Given the description of an element on the screen output the (x, y) to click on. 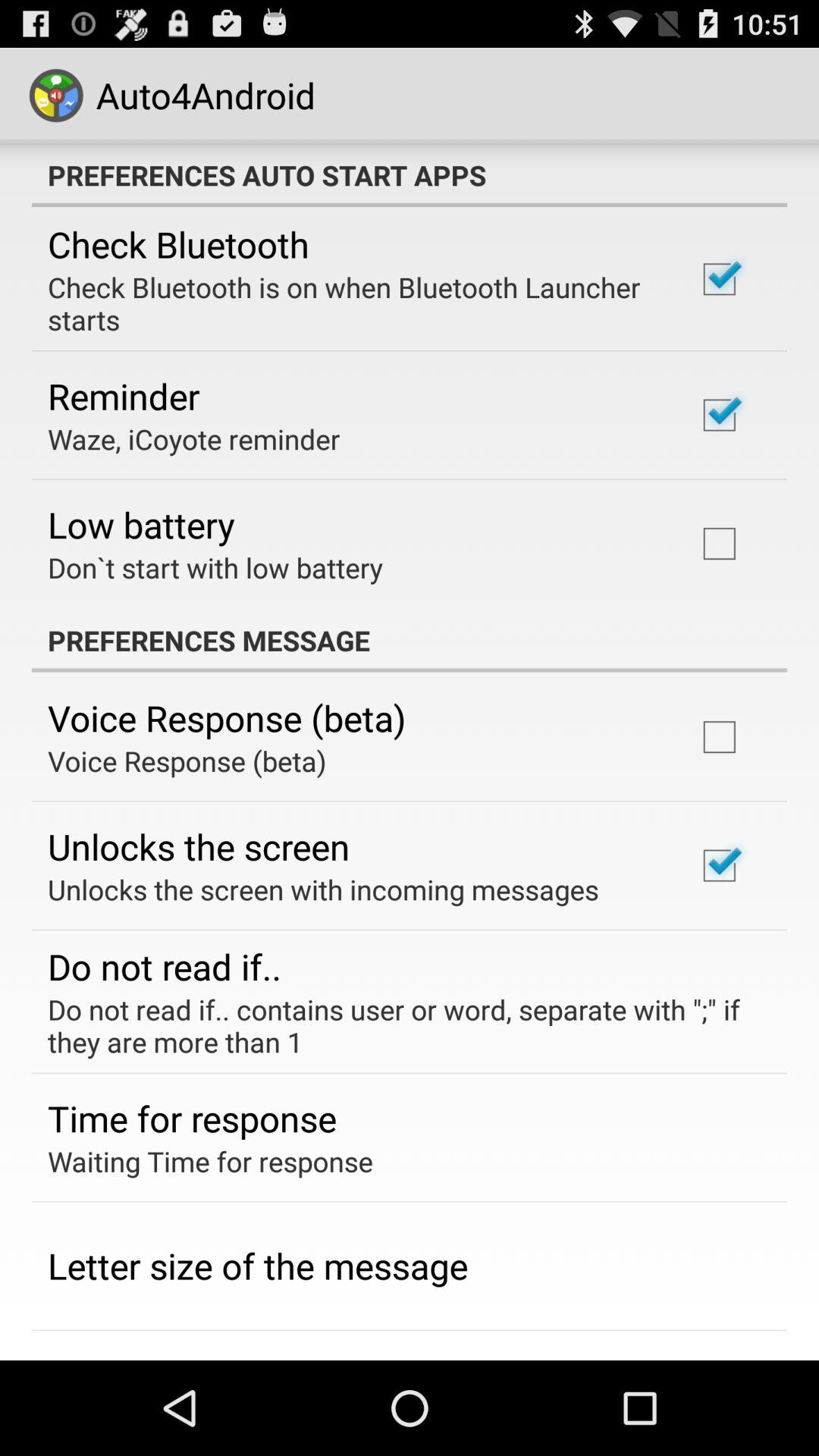
choose the letter size of app (257, 1265)
